Given the description of an element on the screen output the (x, y) to click on. 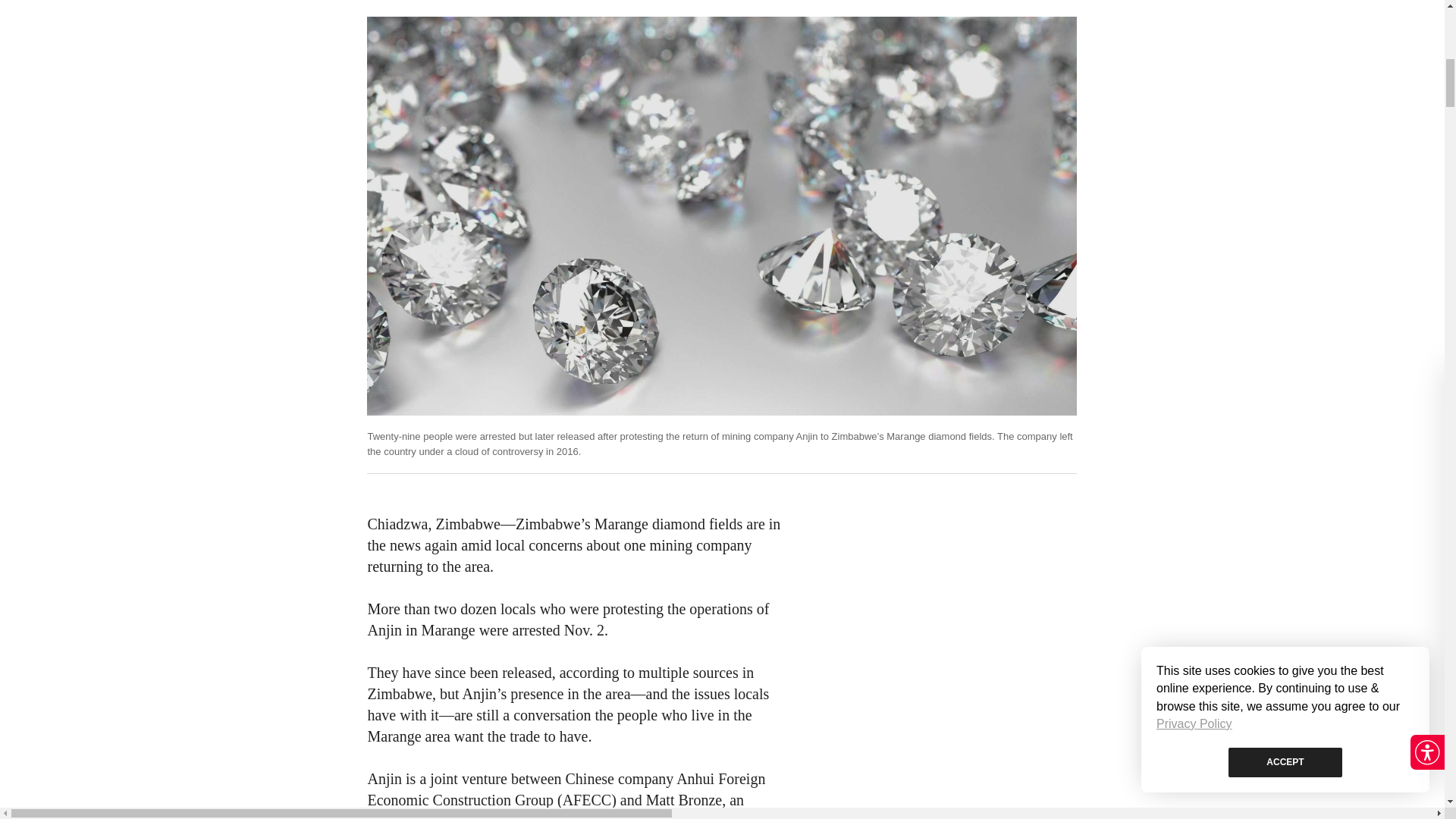
3rd party ad content (940, 607)
